Given the description of an element on the screen output the (x, y) to click on. 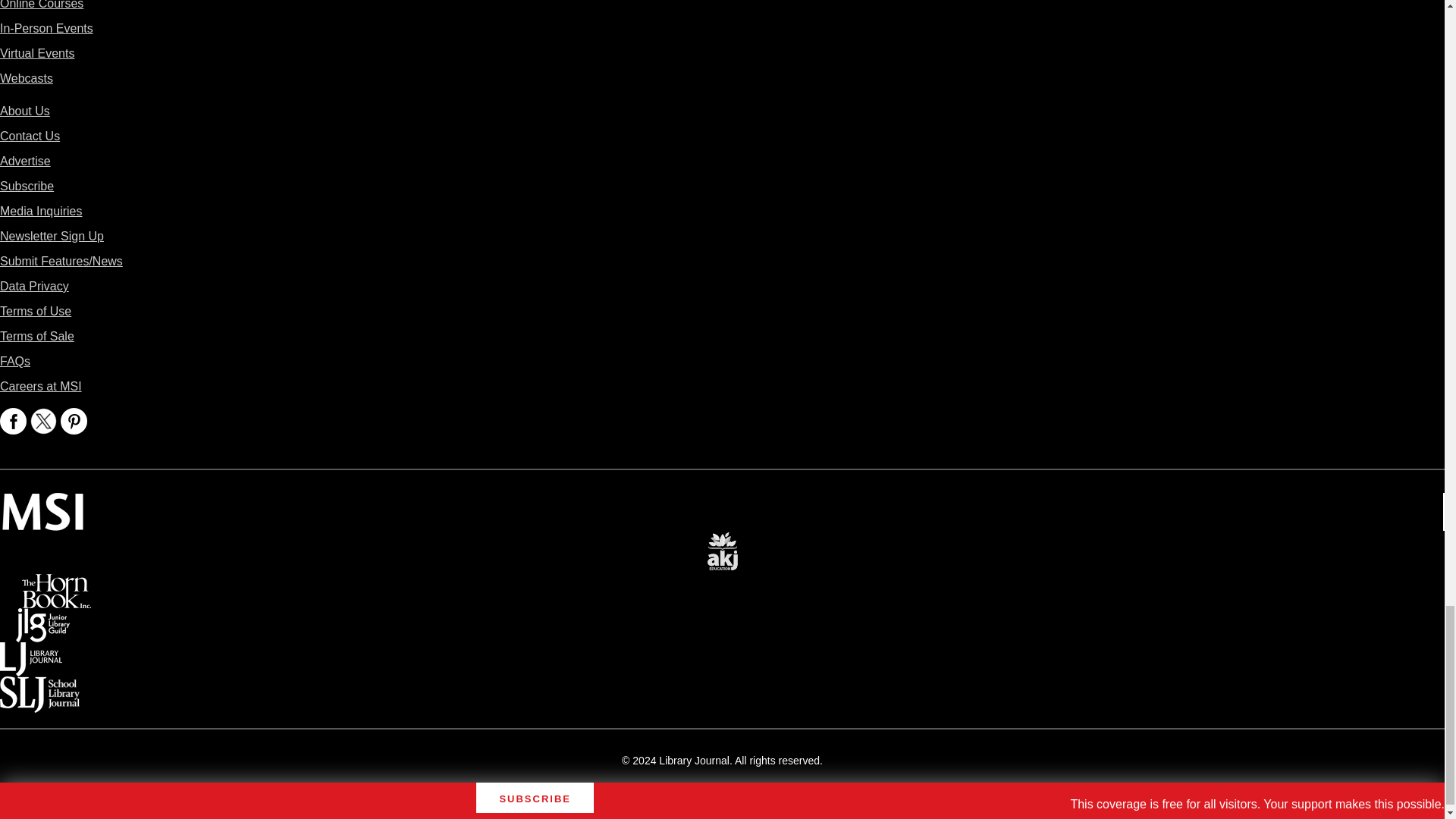
Junior Library Guild (42, 618)
The Horn Book (56, 584)
Media Source Incorporated (42, 503)
AKJ (722, 540)
School Library Journal (40, 686)
